Given the description of an element on the screen output the (x, y) to click on. 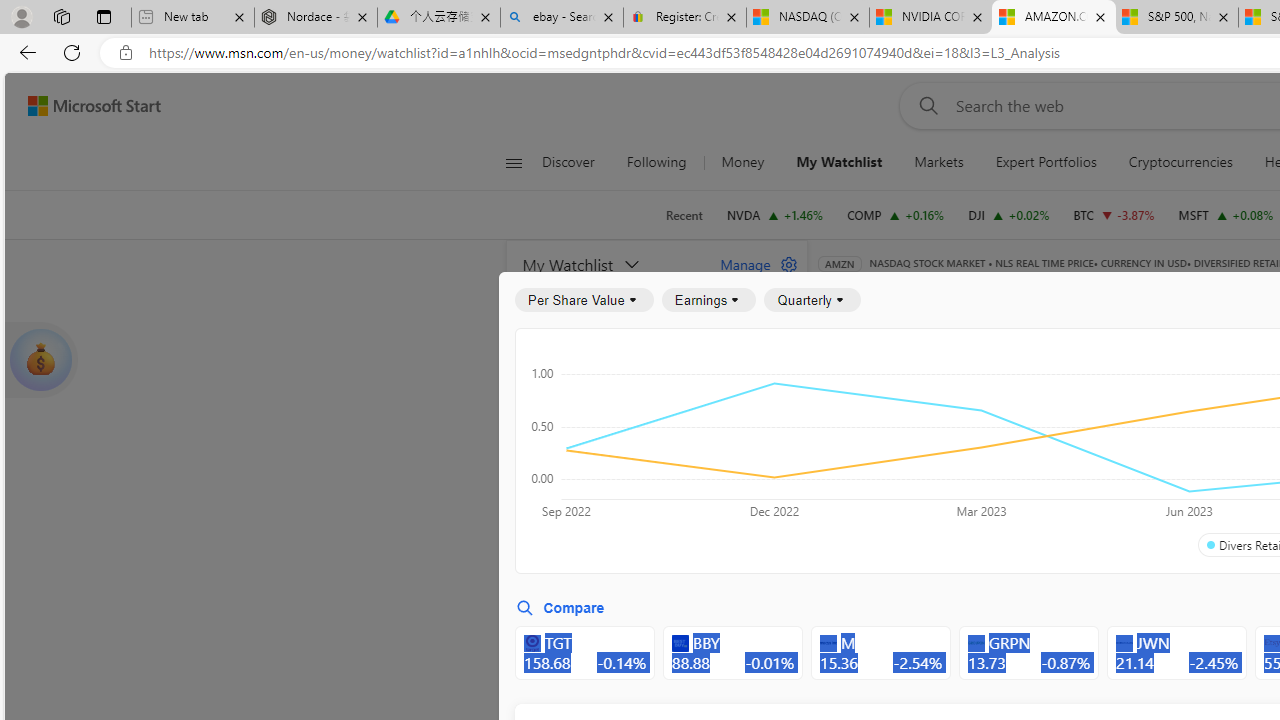
Profitability (1164, 445)
Per Share Values (934, 445)
Watchlist (1152, 291)
My Watchlist (839, 162)
add to your watchlist (786, 680)
Money (742, 162)
Web search (924, 105)
Recent (683, 215)
show card (40, 359)
